Given the description of an element on the screen output the (x, y) to click on. 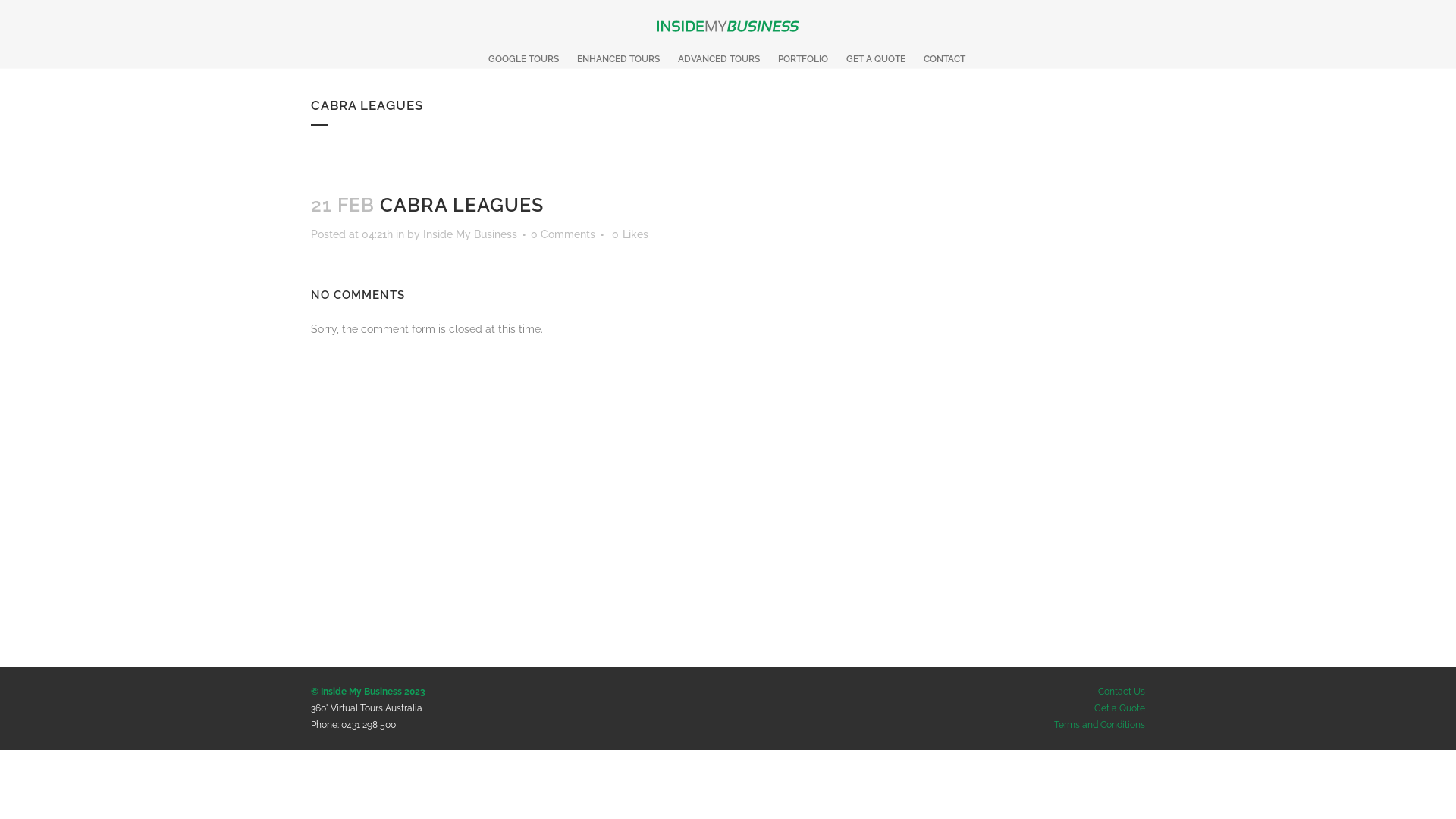
GET A QUOTE Element type: text (875, 58)
PORTFOLIO Element type: text (802, 58)
0 Comments Element type: text (562, 234)
GOOGLE TOURS Element type: text (523, 58)
Inside My Business Element type: text (470, 234)
ENHANCED TOURS Element type: text (617, 58)
0 Likes Element type: text (629, 234)
Get a Quote Element type: text (1119, 707)
ADVANCED TOURS Element type: text (718, 58)
CONTACT Element type: text (944, 58)
Terms and Conditions Element type: text (1099, 724)
Contact Us Element type: text (1121, 691)
